Given the description of an element on the screen output the (x, y) to click on. 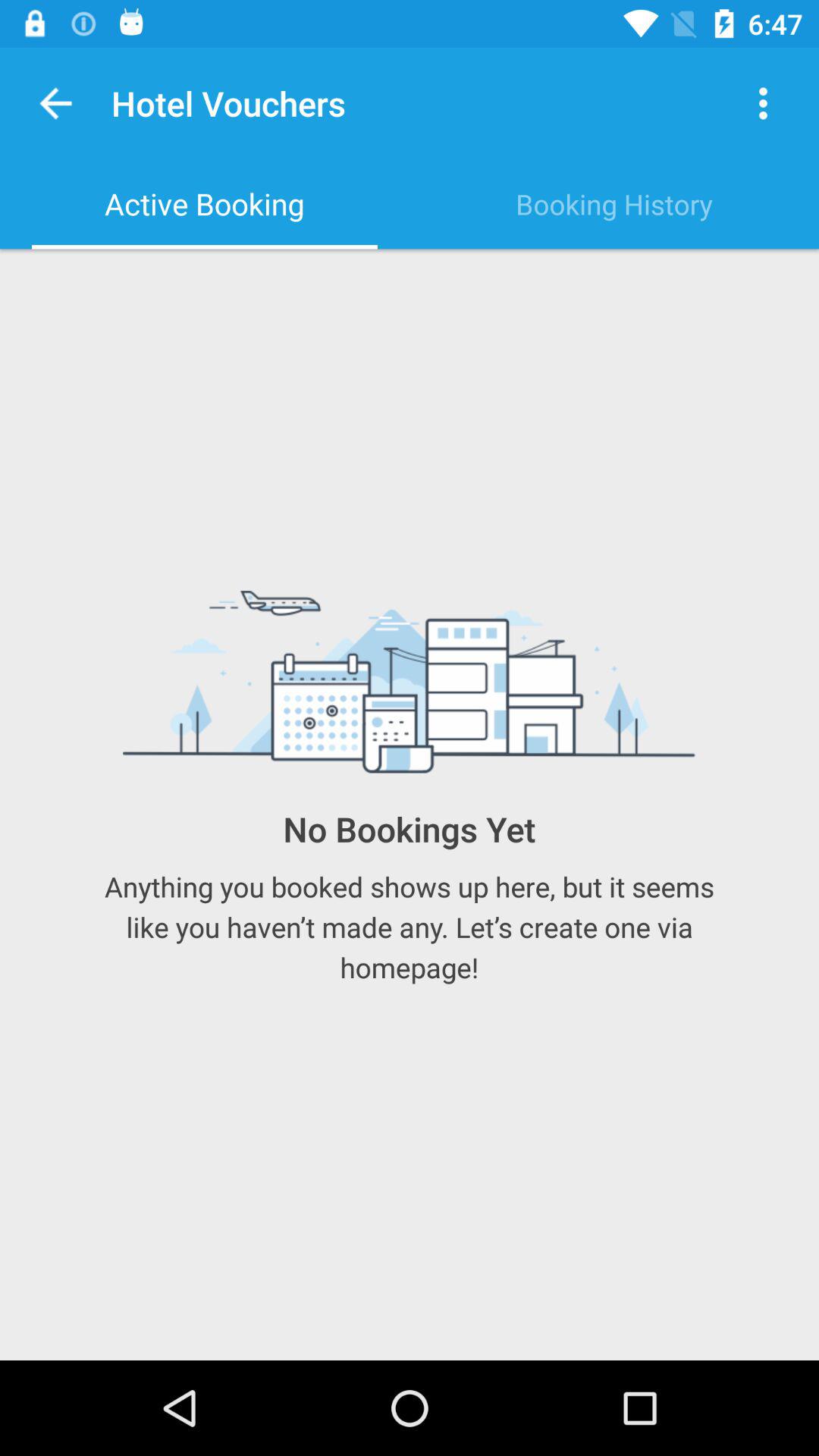
go back (55, 103)
